Given the description of an element on the screen output the (x, y) to click on. 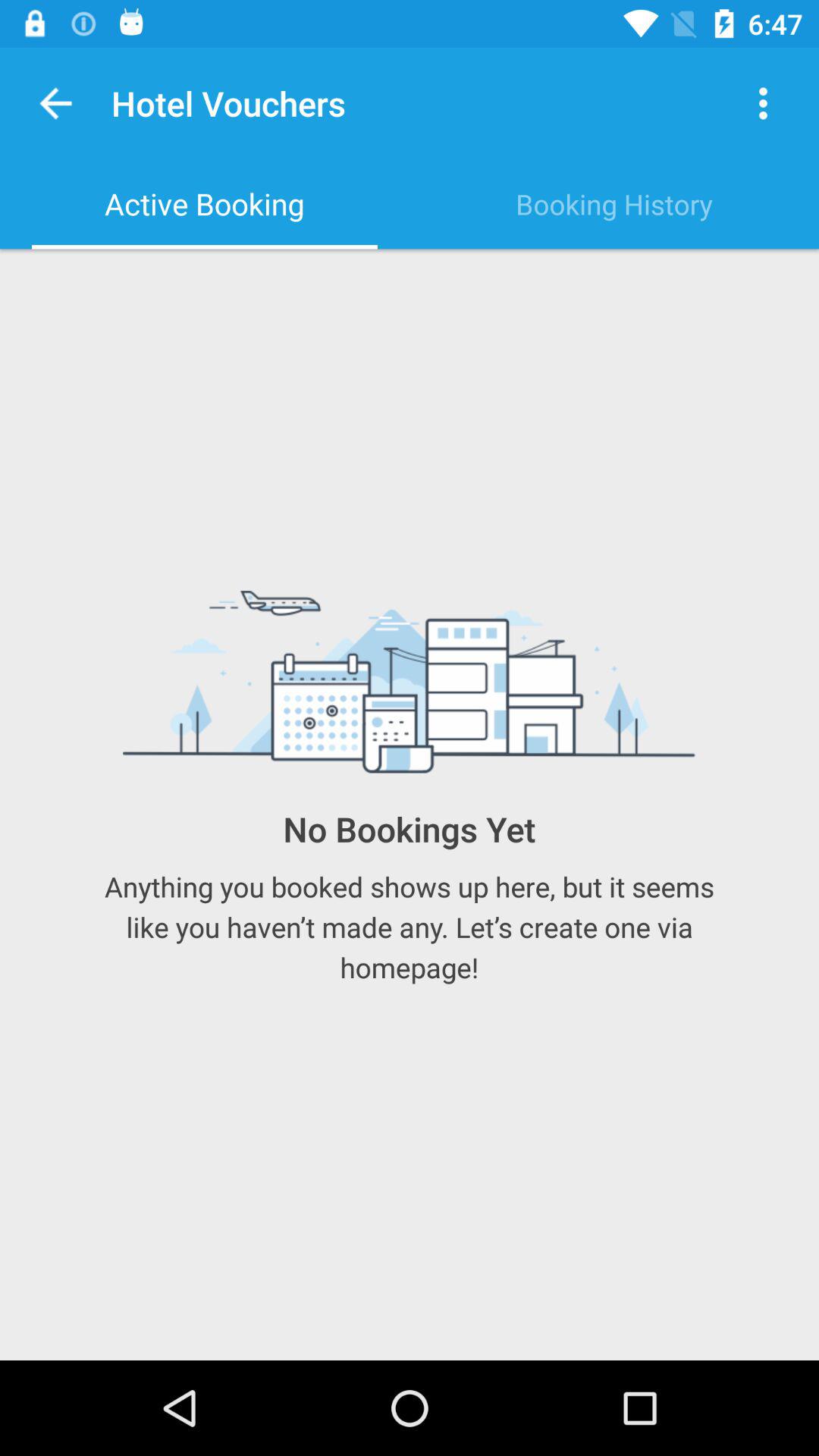
go back (55, 103)
